Given the description of an element on the screen output the (x, y) to click on. 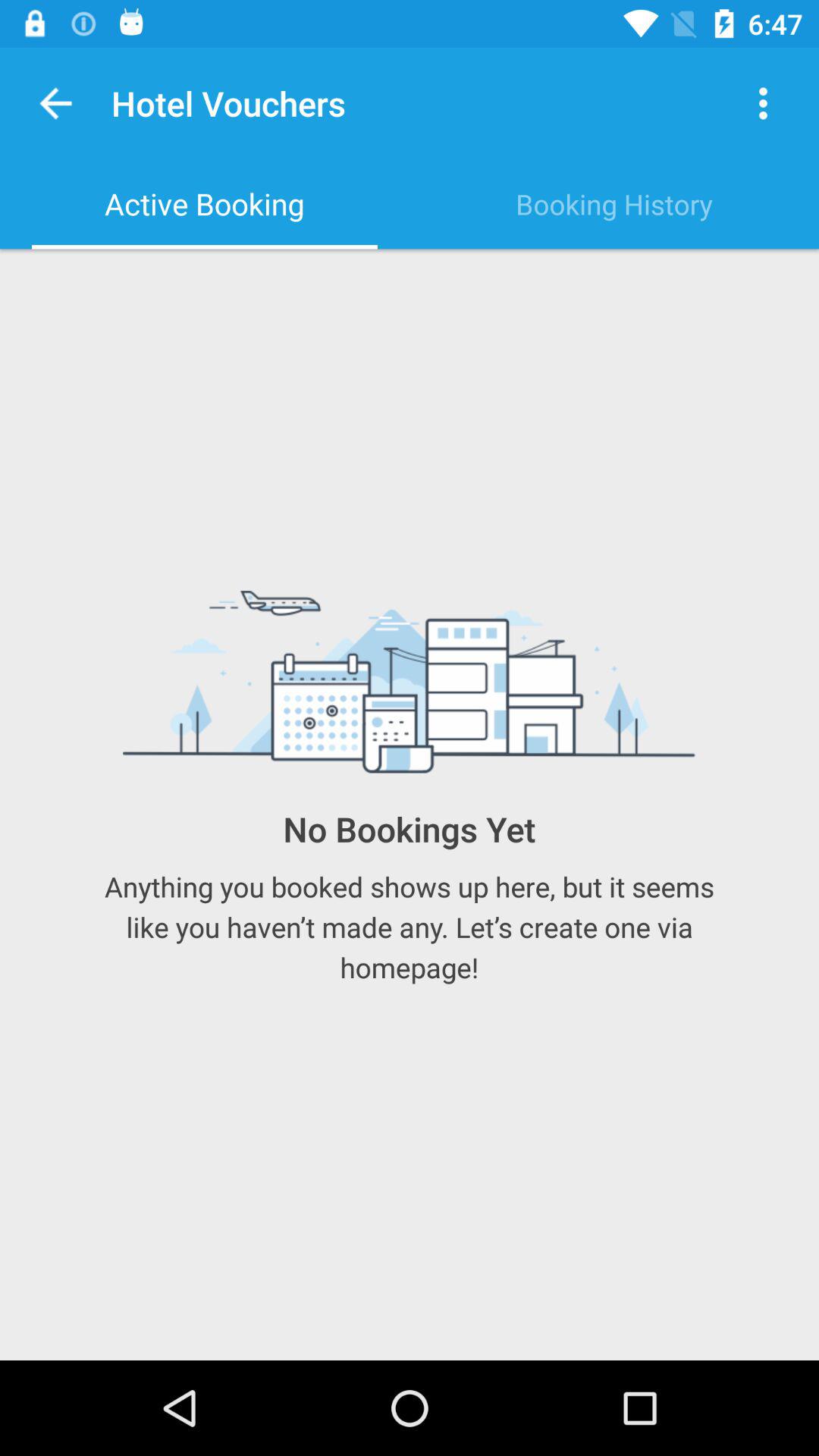
go back (55, 103)
